Given the description of an element on the screen output the (x, y) to click on. 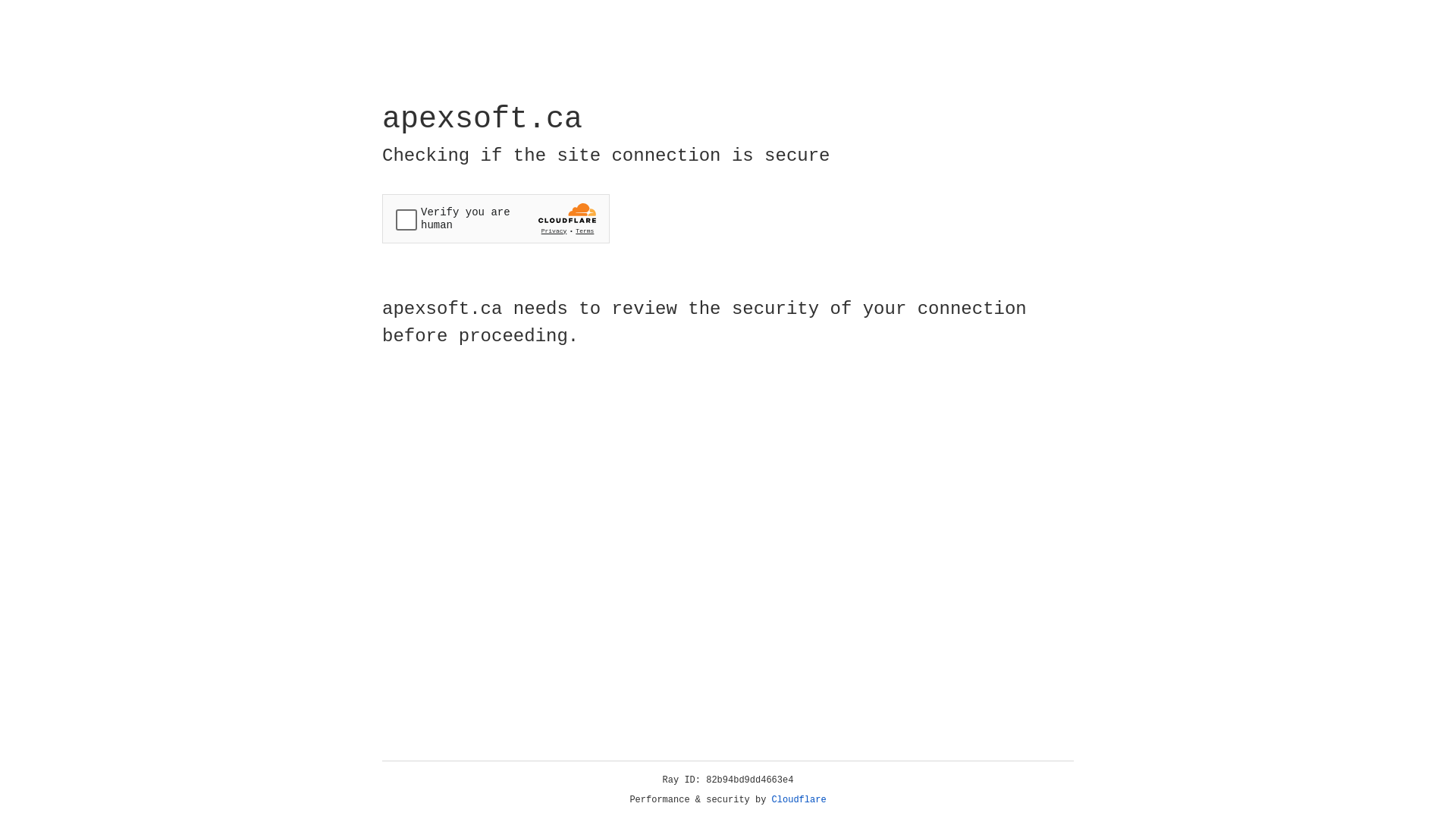
Widget containing a Cloudflare security challenge Element type: hover (495, 218)
Cloudflare Element type: text (798, 799)
